Given the description of an element on the screen output the (x, y) to click on. 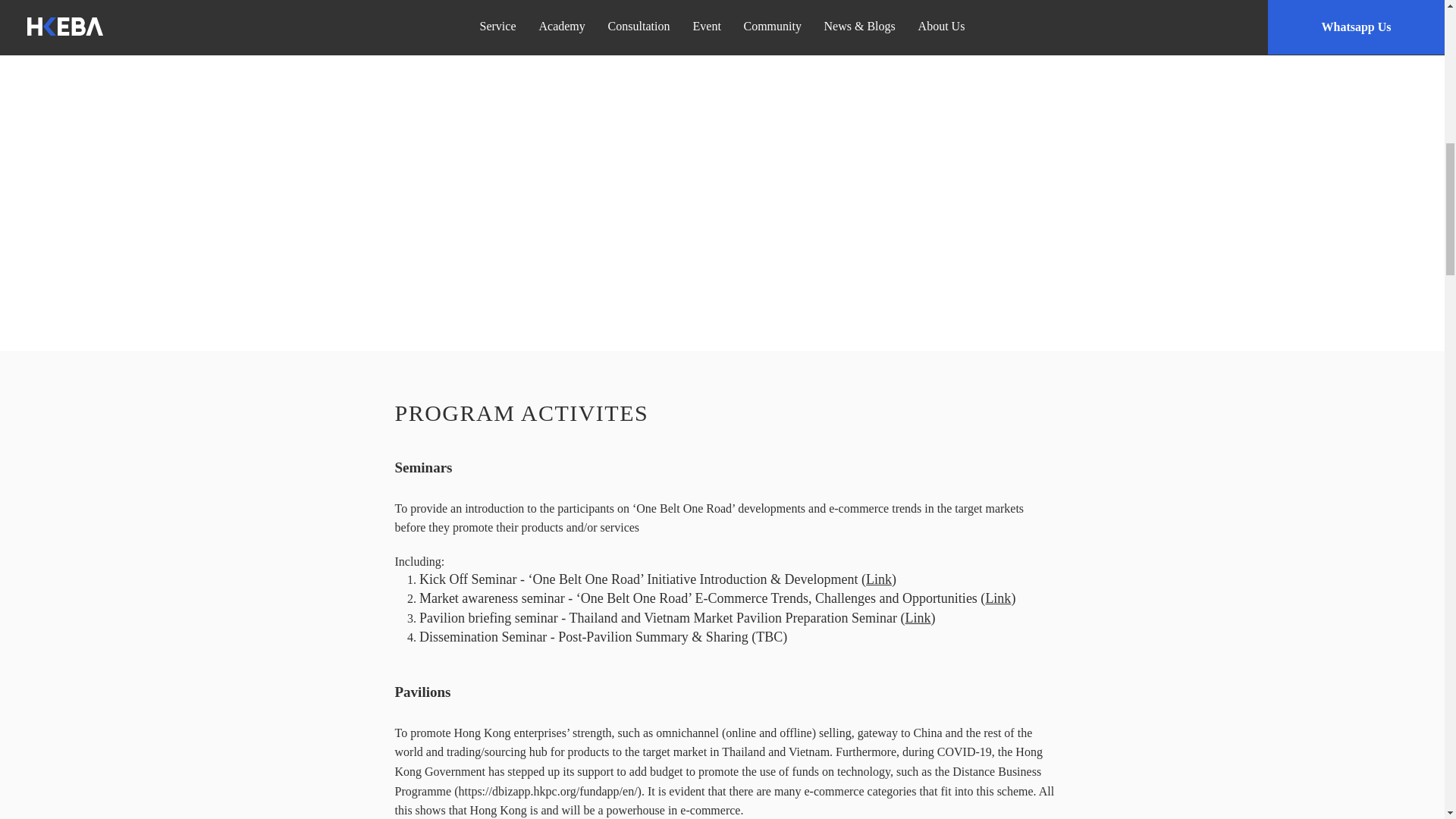
Link (918, 616)
Link (997, 598)
Link (878, 579)
